Given the description of an element on the screen output the (x, y) to click on. 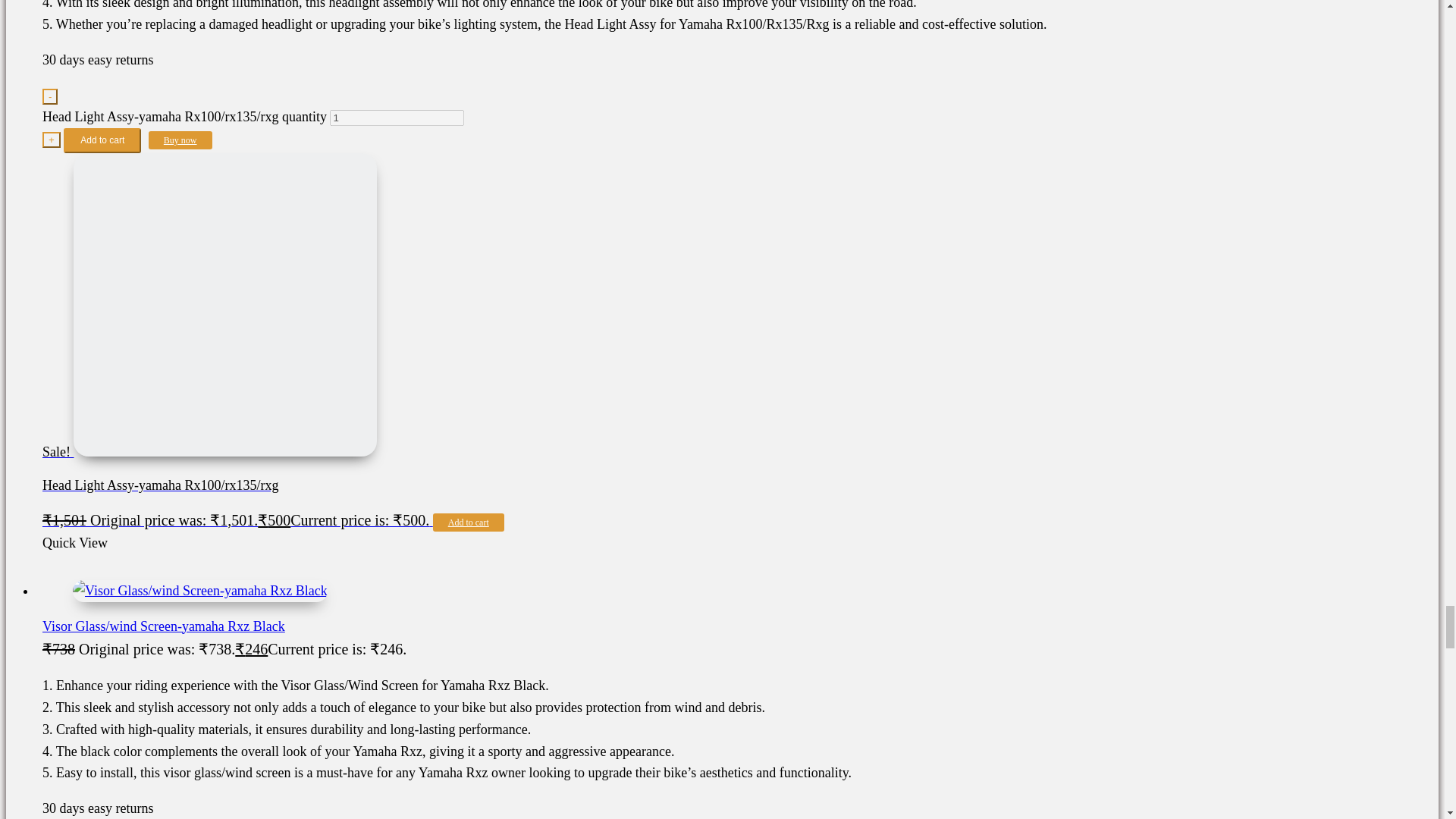
1 (397, 117)
